Given the description of an element on the screen output the (x, y) to click on. 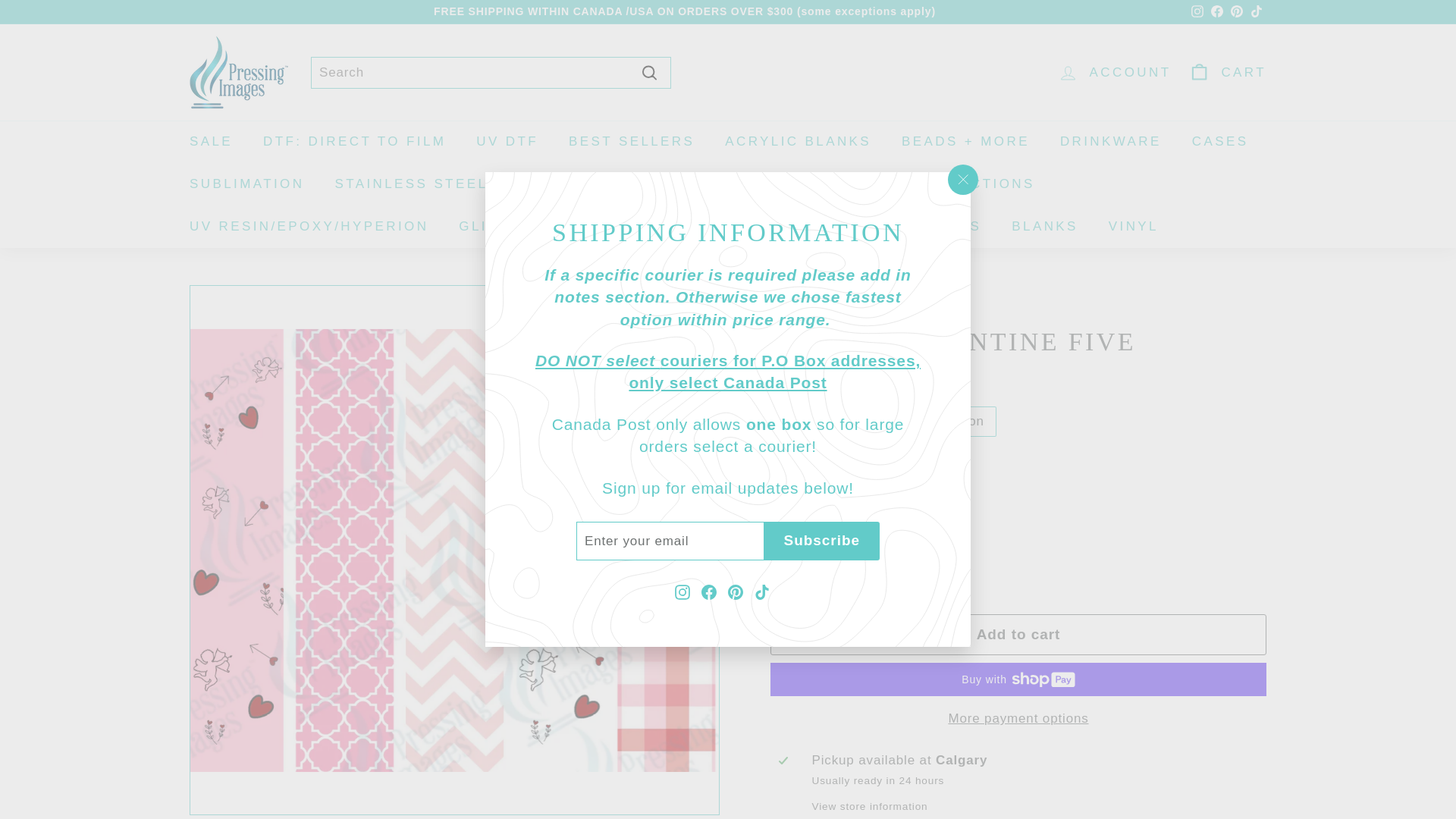
Pressing Images on TikTok (1256, 11)
DRINKWARE (1197, 11)
DTF: DIRECT TO FILM (1110, 141)
UV DTF (354, 141)
Pressing Images on Facebook (507, 141)
Pressing Images on Facebook (1217, 11)
Pinterest (708, 591)
Pressing Images on Instagram (1236, 11)
Pressing Images on Pinterest (1197, 11)
TUMBLER WRAPS (735, 591)
BEST SELLERS (590, 183)
Pressing Images on Pinterest (631, 141)
instagram (1236, 11)
Pressing Images on Instagram (1197, 10)
